Given the description of an element on the screen output the (x, y) to click on. 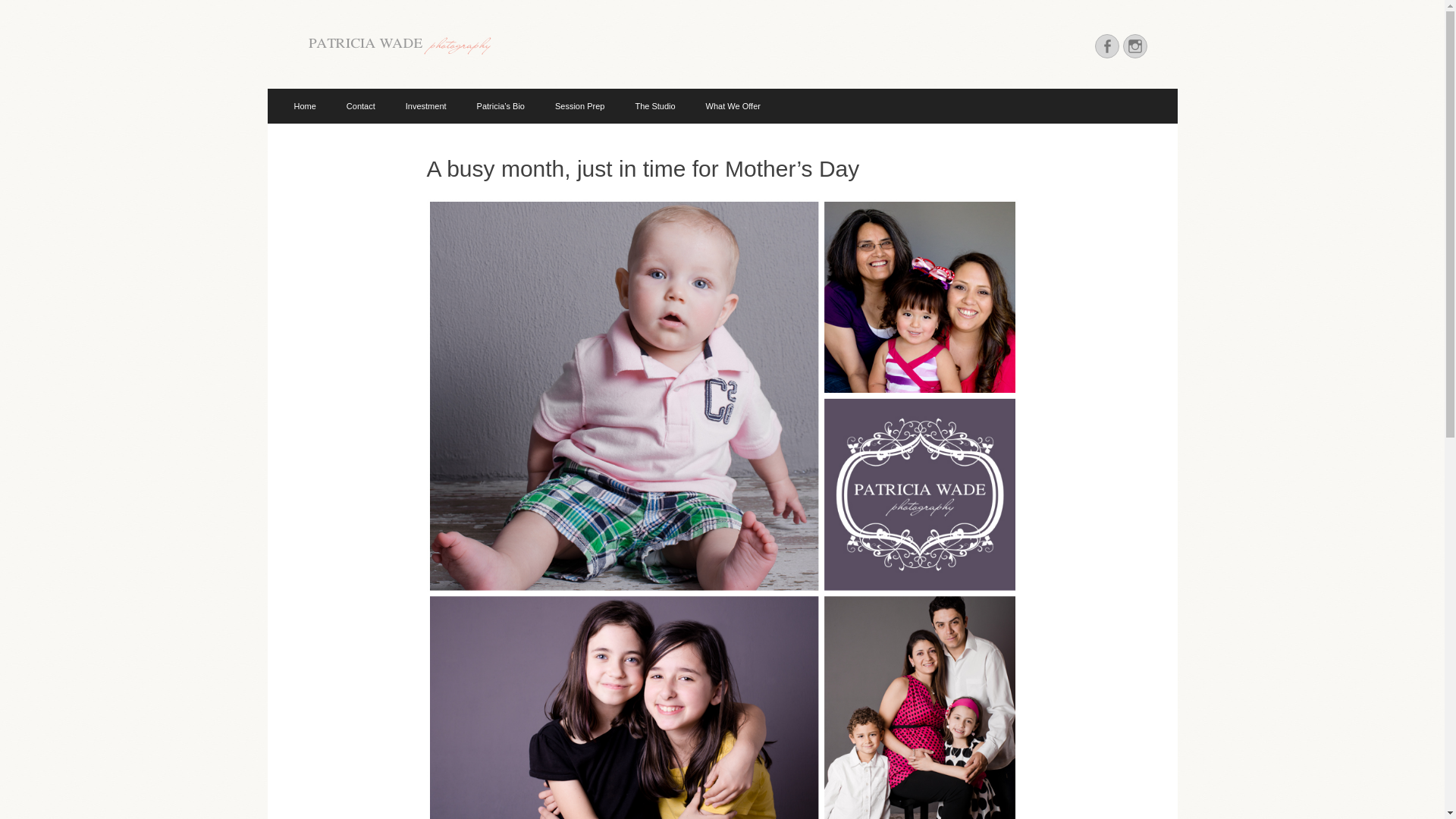
Instagram (1134, 46)
Facebook (1106, 46)
What We Offer (733, 105)
Contact (360, 105)
Home (305, 105)
Investment (425, 105)
Session Prep (580, 105)
Facebook (1106, 46)
The Studio (655, 105)
Instagram (1134, 46)
Patricia Wade Photography (484, 48)
